Given the description of an element on the screen output the (x, y) to click on. 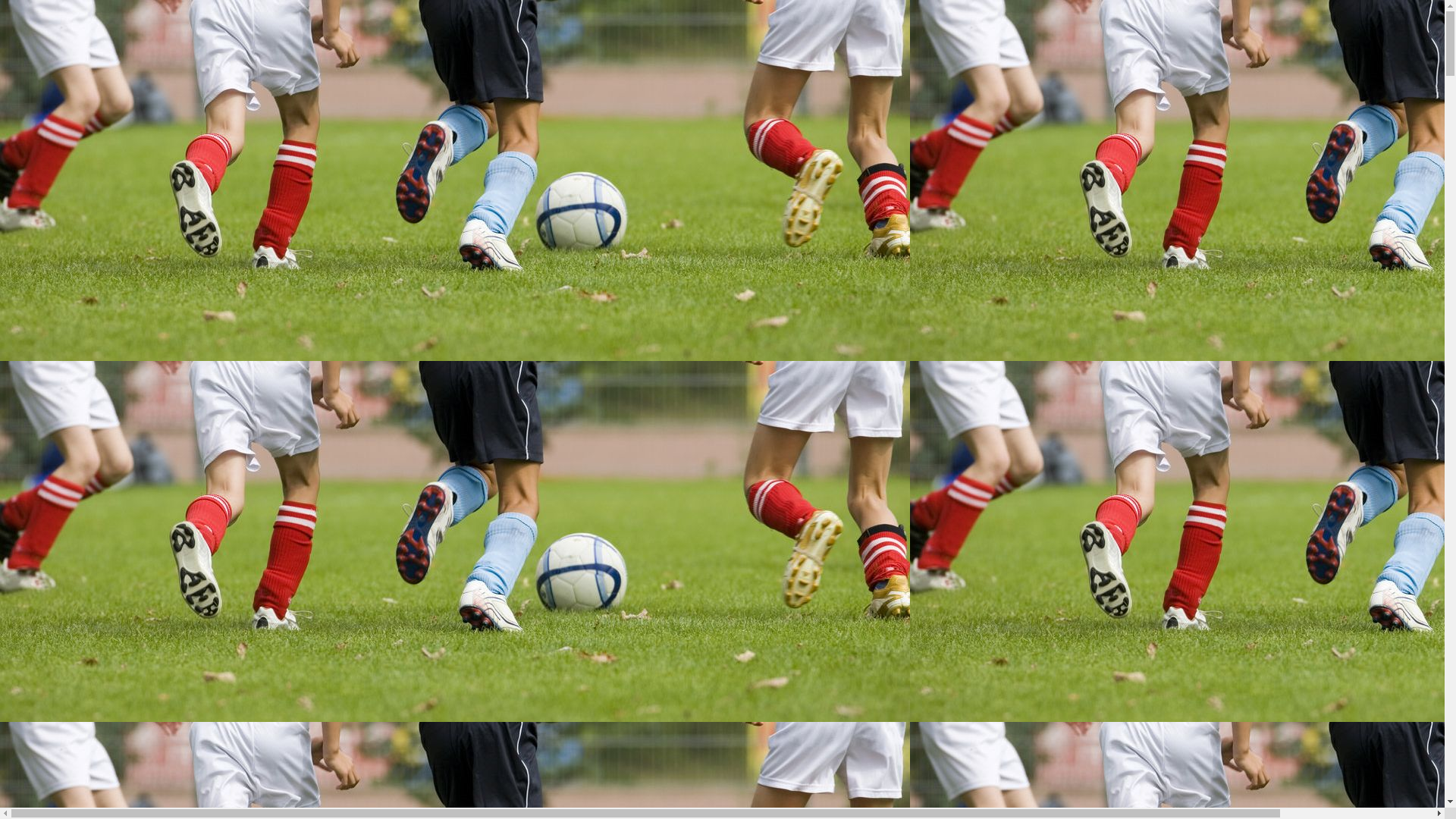
Spielplan Element type: text (113, 185)
Medienakkreditierung Element type: text (84, 31)
Platzwart Element type: text (83, 670)
Trainer Element type: text (78, 74)
Kontakt Element type: text (49, 282)
Trainer Element type: text (108, 655)
Junioren Element type: text (81, 255)
offene Stellen Element type: text (124, 712)
Restaurant Element type: text (55, 436)
Verein Element type: text (46, 600)
Stadionzytig Element type: text (60, 422)
FC Black Stars Element type: text (39, 504)
Trainer Element type: text (78, 642)
Juniorenanmeldung-Probetraining Element type: text (143, 269)
Geschichte Element type: text (117, 740)
Trainingsplan Element type: text (63, 352)
Werbetafeln Element type: text (89, 408)
Senioren 50+ Element type: text (92, 227)
Vorstand Element type: text (81, 614)
1. Mannschaft Element type: text (95, 157)
Kontakt Element type: text (80, 297)
Kontaktformular Element type: text (101, 310)
Aktive Element type: text (46, 781)
Platzwart Element type: text (113, 683)
Junioren Element type: text (51, 241)
Dokumente Element type: text (88, 129)
Lageplan Element type: text (52, 338)
Geschichte Element type: text (87, 115)
Platzwart Element type: text (83, 87)
Senioren 40+ Meister Element type: text (113, 213)
Vorstand Element type: text (112, 627)
Verein Element type: text (46, 46)
Unsere Sponsoren Element type: text (104, 395)
Medienakkreditierung Element type: text (84, 586)
200er Club Element type: text (57, 450)
offene Stellen Element type: text (94, 101)
offene Stellen Element type: text (94, 697)
Dokumente Element type: text (119, 767)
1. Mannschaft Element type: text (125, 171)
2. Mannschaft Element type: text (95, 199)
Login Element type: text (16, 490)
1. Mannschaft Element type: text (125, 809)
1. Mannschaft Element type: text (95, 795)
Sponsoring Element type: text (57, 366)
Vorstand Element type: text (81, 59)
Geschichte Element type: text (87, 725)
Shop Element type: text (42, 464)
Sponsoring Element type: text (88, 380)
Dokumente Element type: text (88, 753)
Home Element type: text (44, 572)
Aktive Element type: text (46, 144)
Home Element type: text (44, 18)
